Given the description of an element on the screen output the (x, y) to click on. 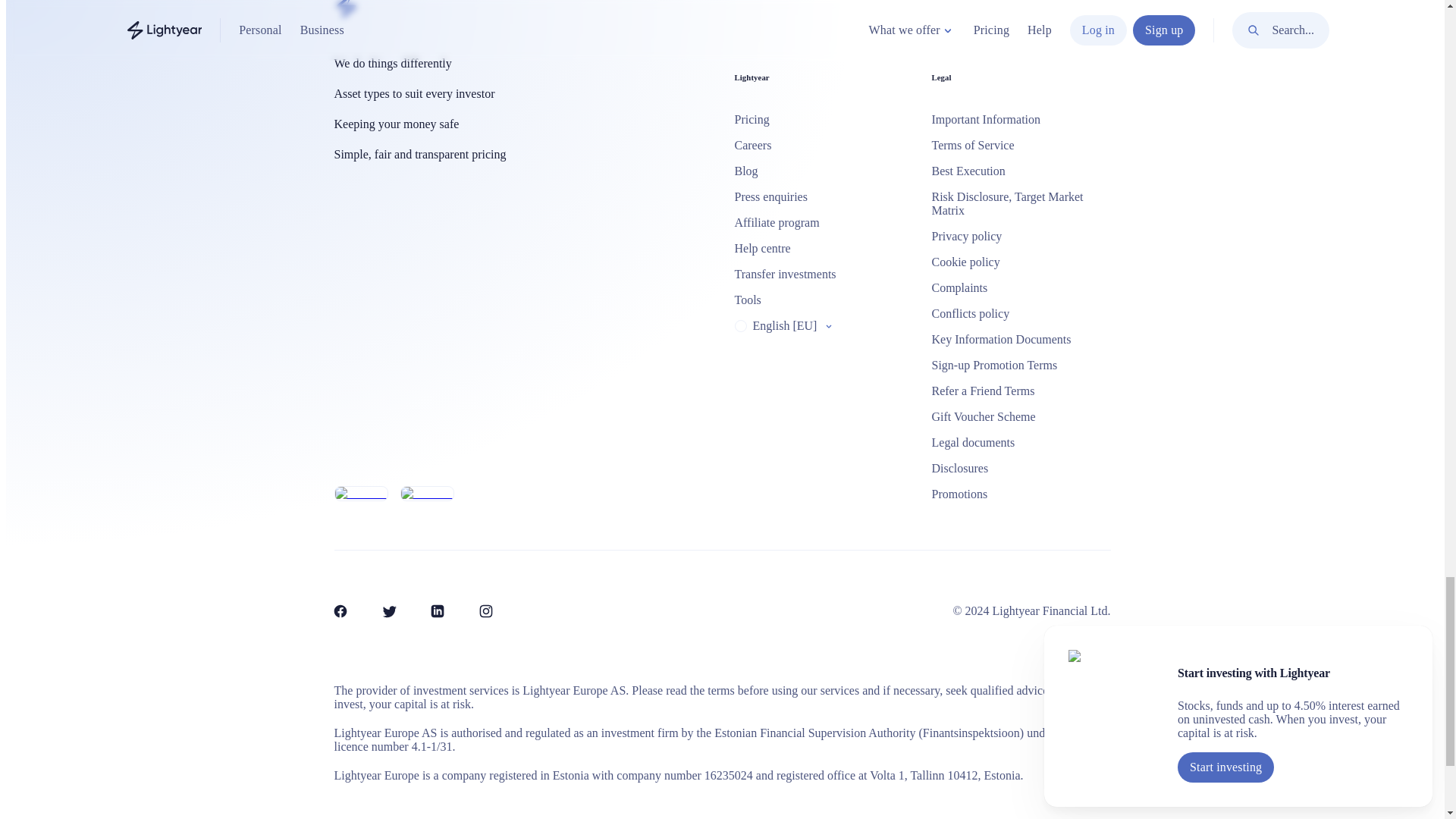
Europe (739, 326)
